Given the description of an element on the screen output the (x, y) to click on. 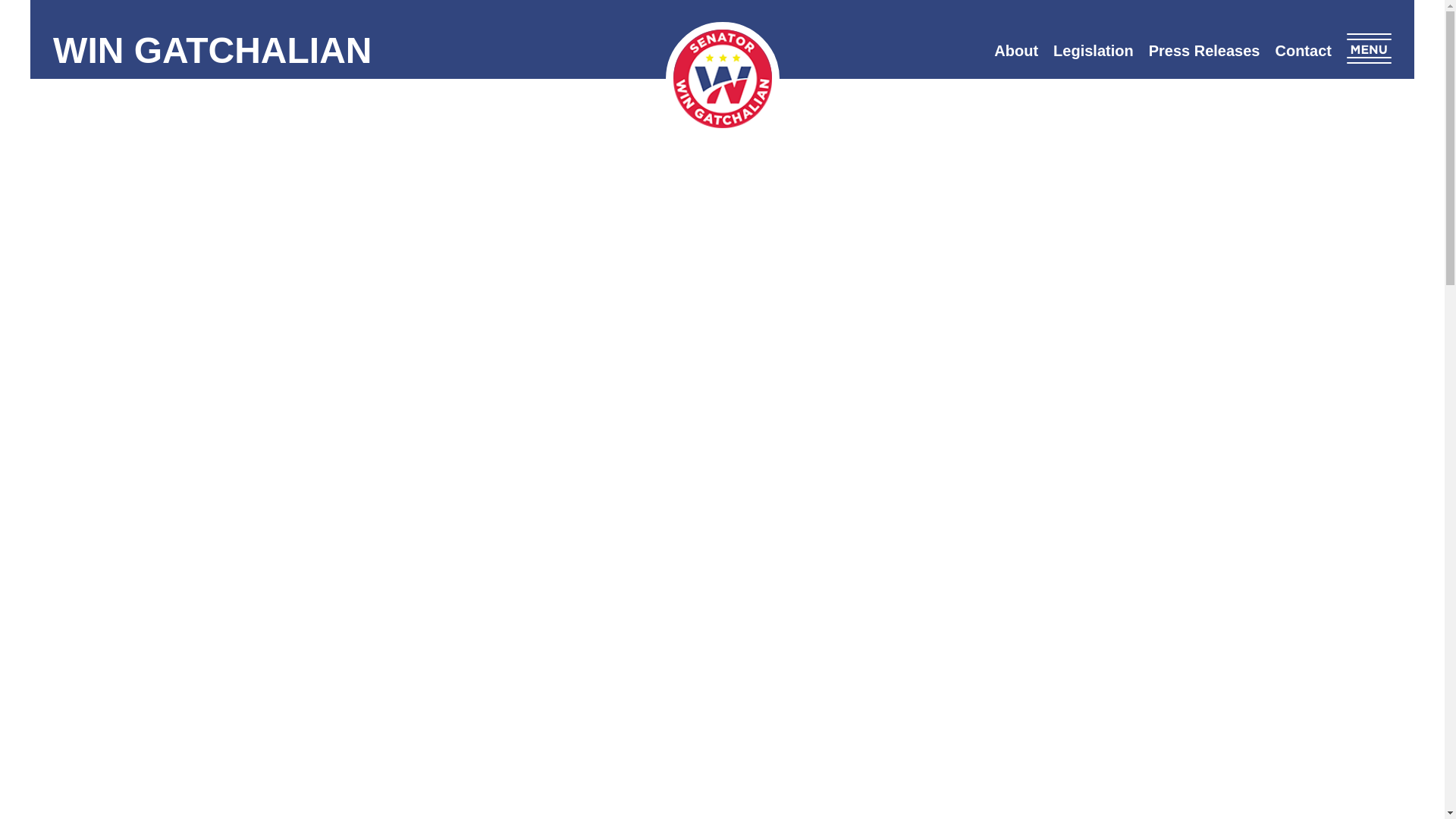
Contact (1302, 50)
About (1016, 50)
Press Releases (1204, 50)
Legislation (1093, 50)
